Given the description of an element on the screen output the (x, y) to click on. 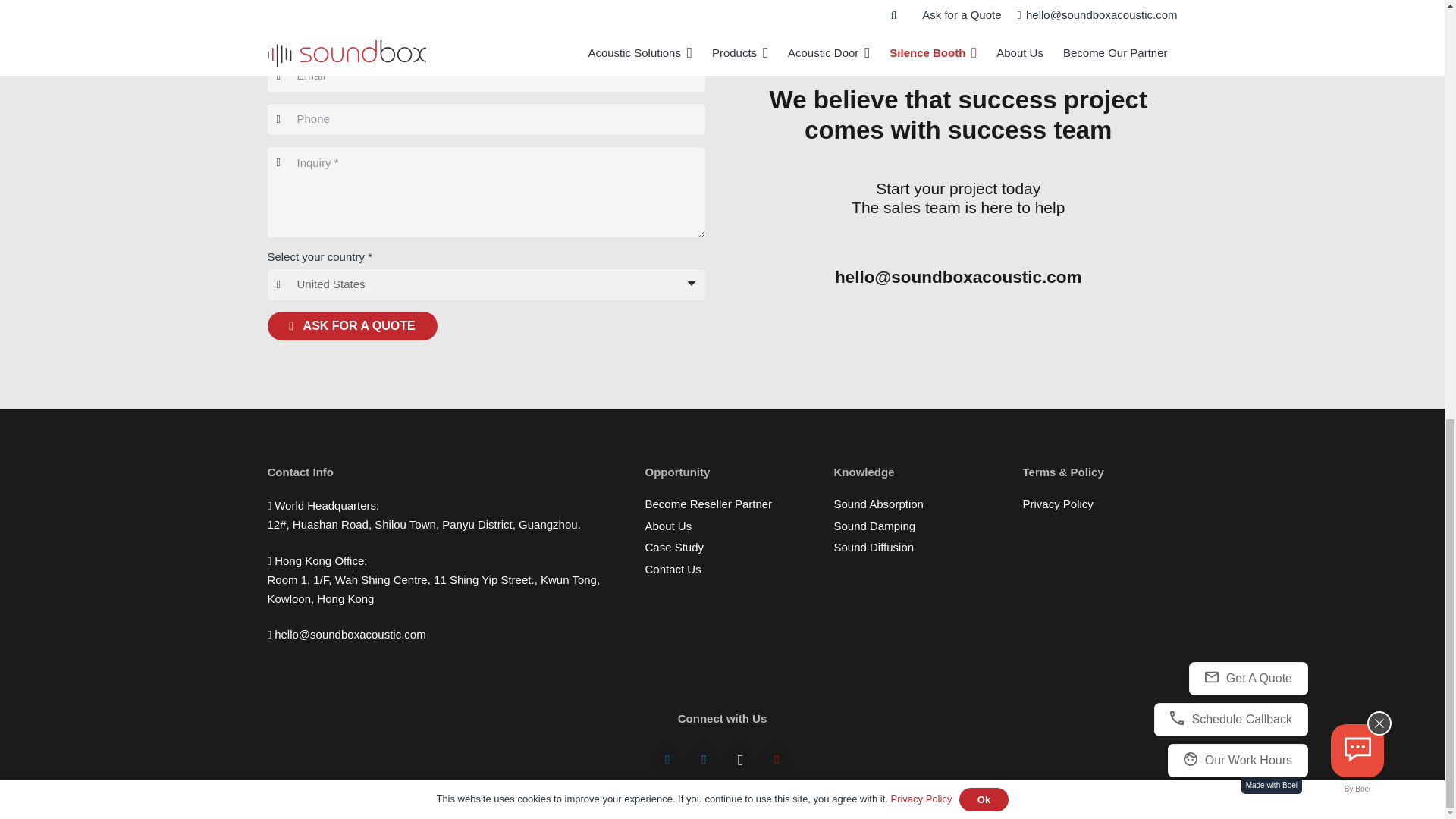
Instagram (740, 759)
Facebook (703, 759)
LinkedIn (667, 759)
Back to top (1413, 2)
YouTube (776, 759)
